Given the description of an element on the screen output the (x, y) to click on. 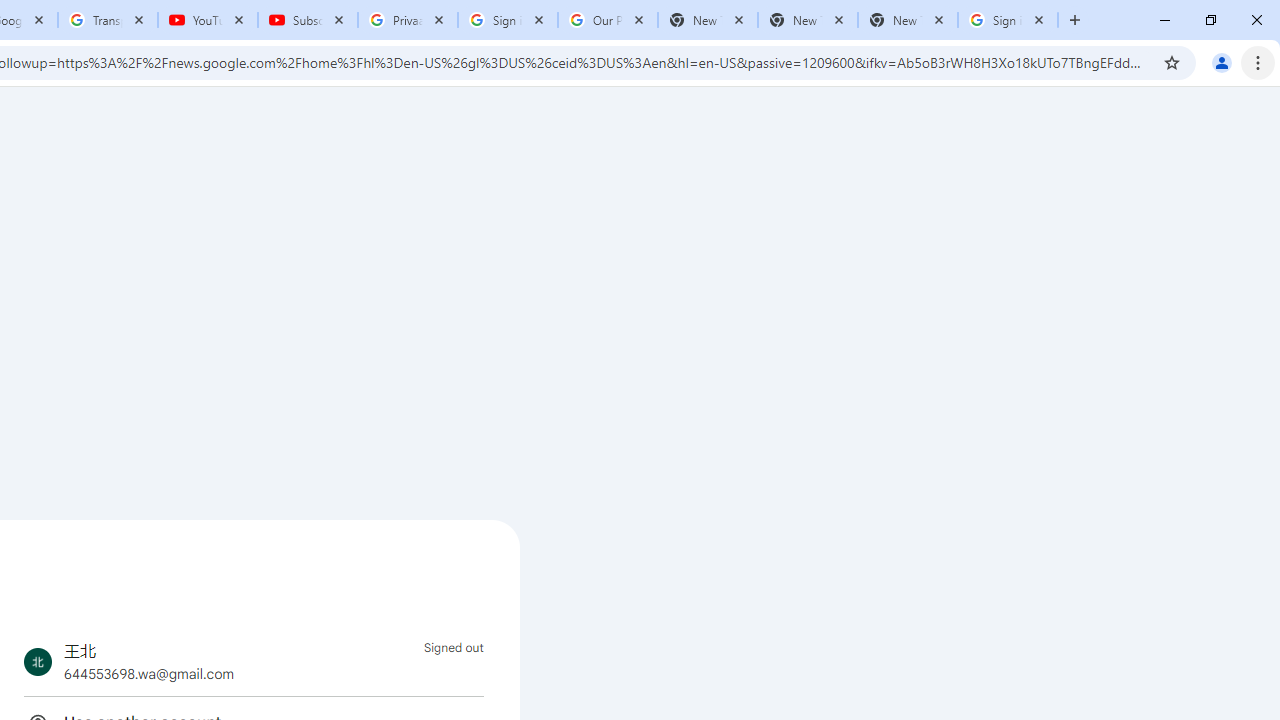
Subscriptions - YouTube (308, 20)
Sign in - Google Accounts (1007, 20)
Sign in - Google Accounts (508, 20)
New Tab (907, 20)
